Given the description of an element on the screen output the (x, y) to click on. 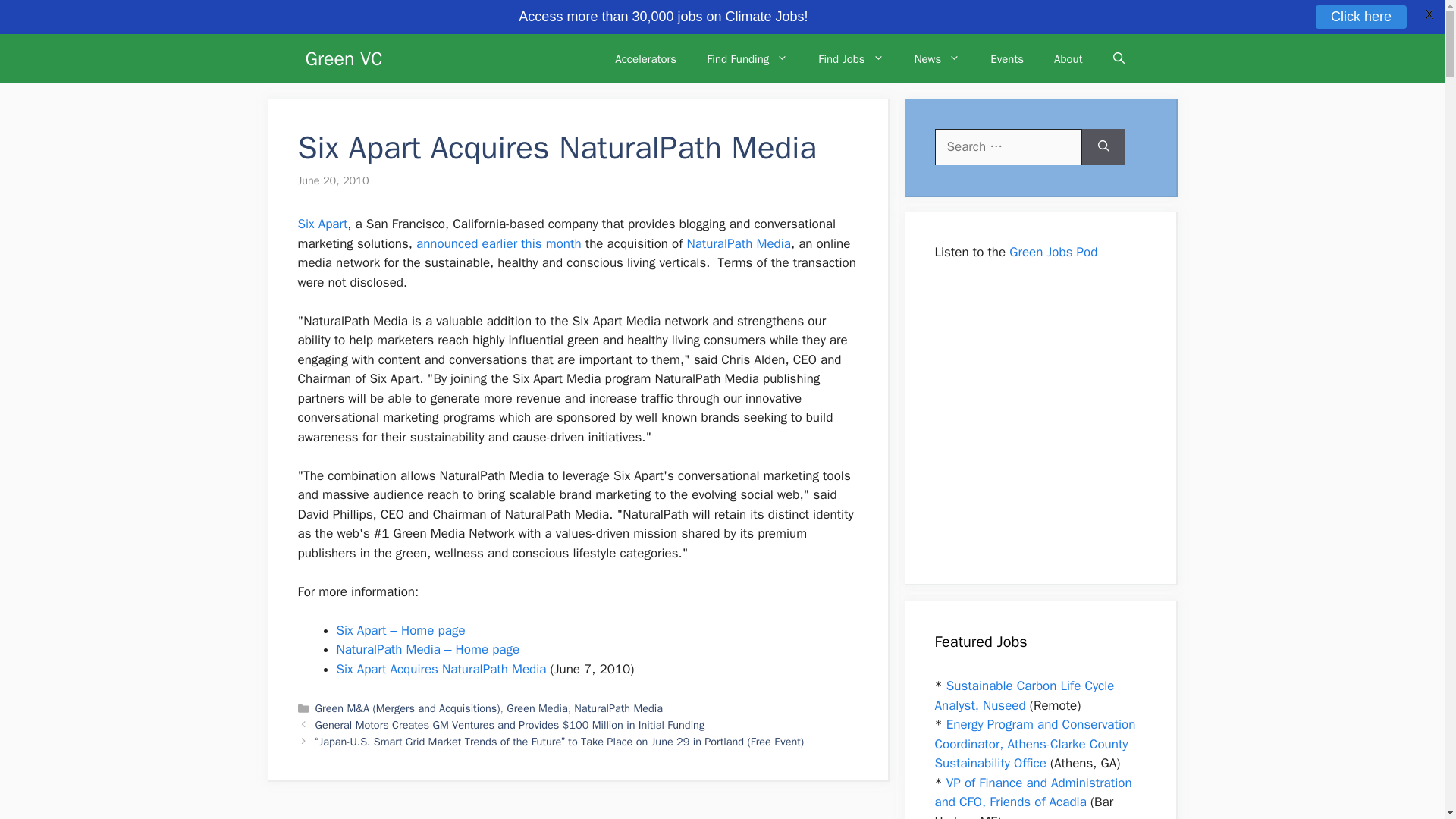
VP of Finance and Administration and CFO, Friends of Acadia (1032, 792)
Sustainable Carbon Life Cycle Analyst, Nuseed (1023, 695)
Green Jobs Pod (1053, 252)
News (937, 58)
Find Jobs (850, 58)
Find Funding (747, 58)
Green VC (342, 58)
announced earlier this month (498, 243)
NaturalPath Media (737, 243)
